Given the description of an element on the screen output the (x, y) to click on. 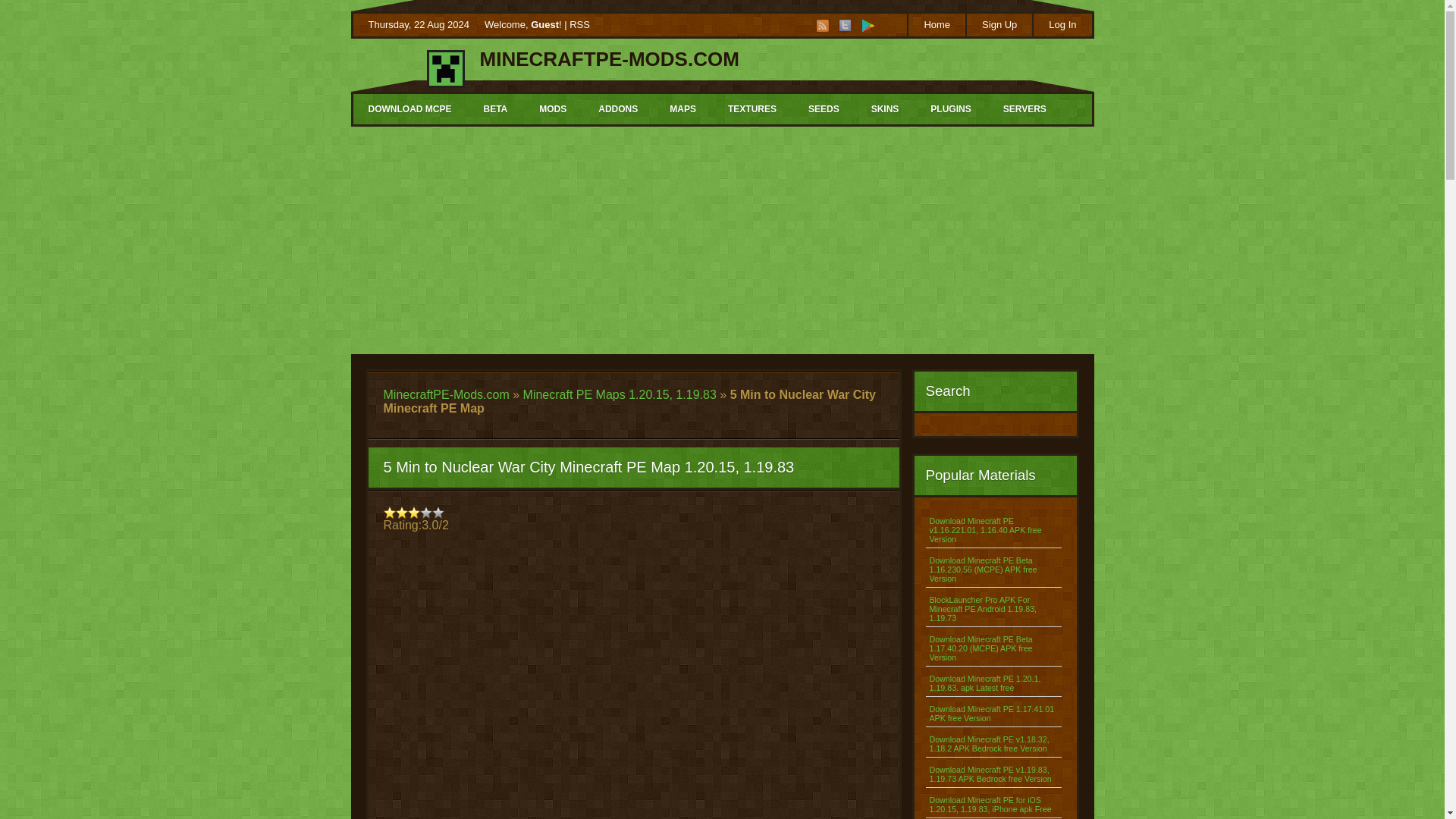
DOWNLOAD MCPE (410, 109)
RSS (579, 24)
Log In (1061, 24)
MAPS (681, 109)
Sign Up (998, 24)
Sign Up (998, 24)
Home (936, 24)
ADDONS (616, 109)
MODS (551, 109)
BETA (494, 109)
